Given the description of an element on the screen output the (x, y) to click on. 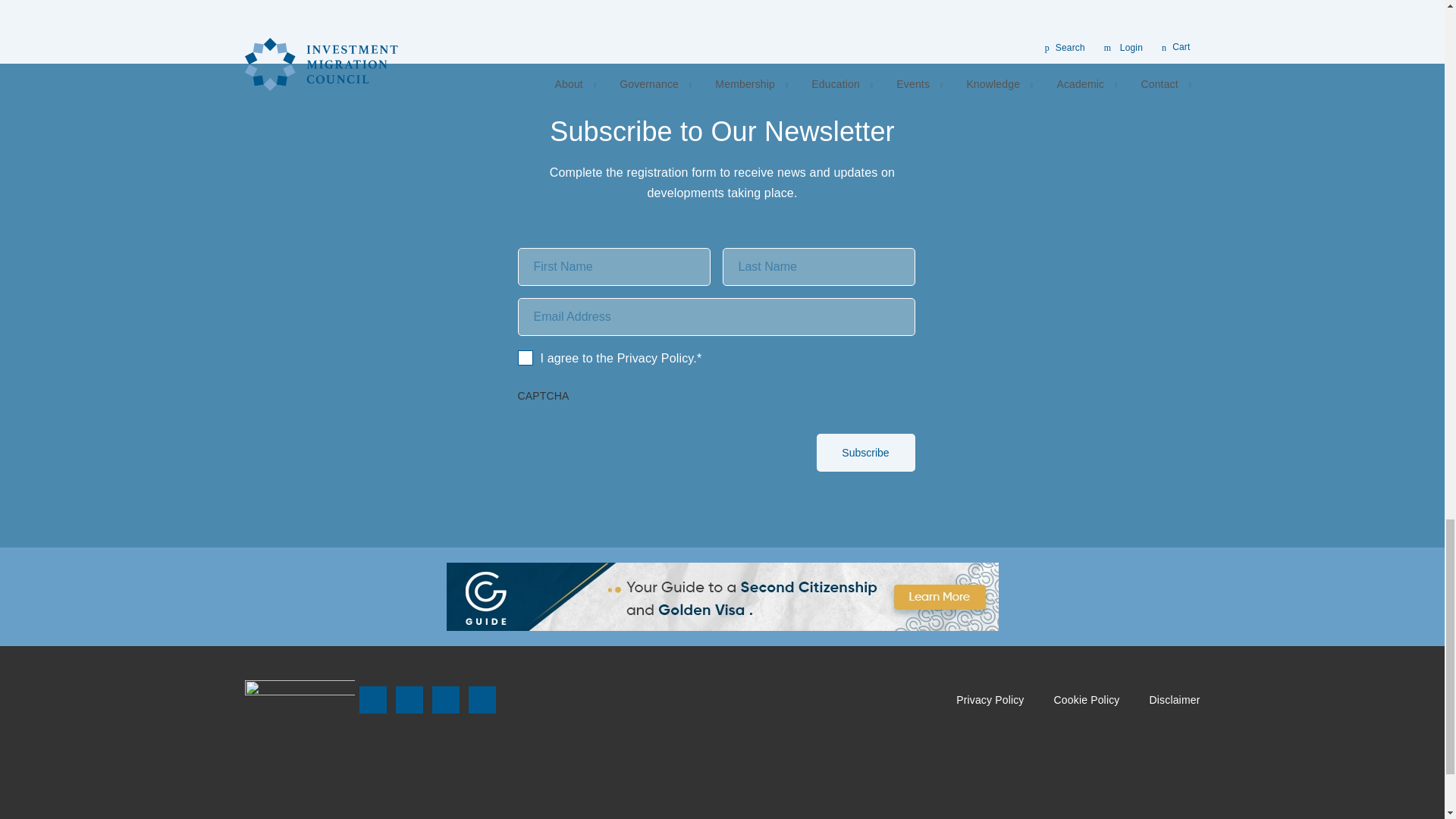
Subscribe (864, 452)
E-mail (480, 699)
LinkedIn (444, 699)
Twitter (407, 699)
Facebook (371, 699)
